Given the description of an element on the screen output the (x, y) to click on. 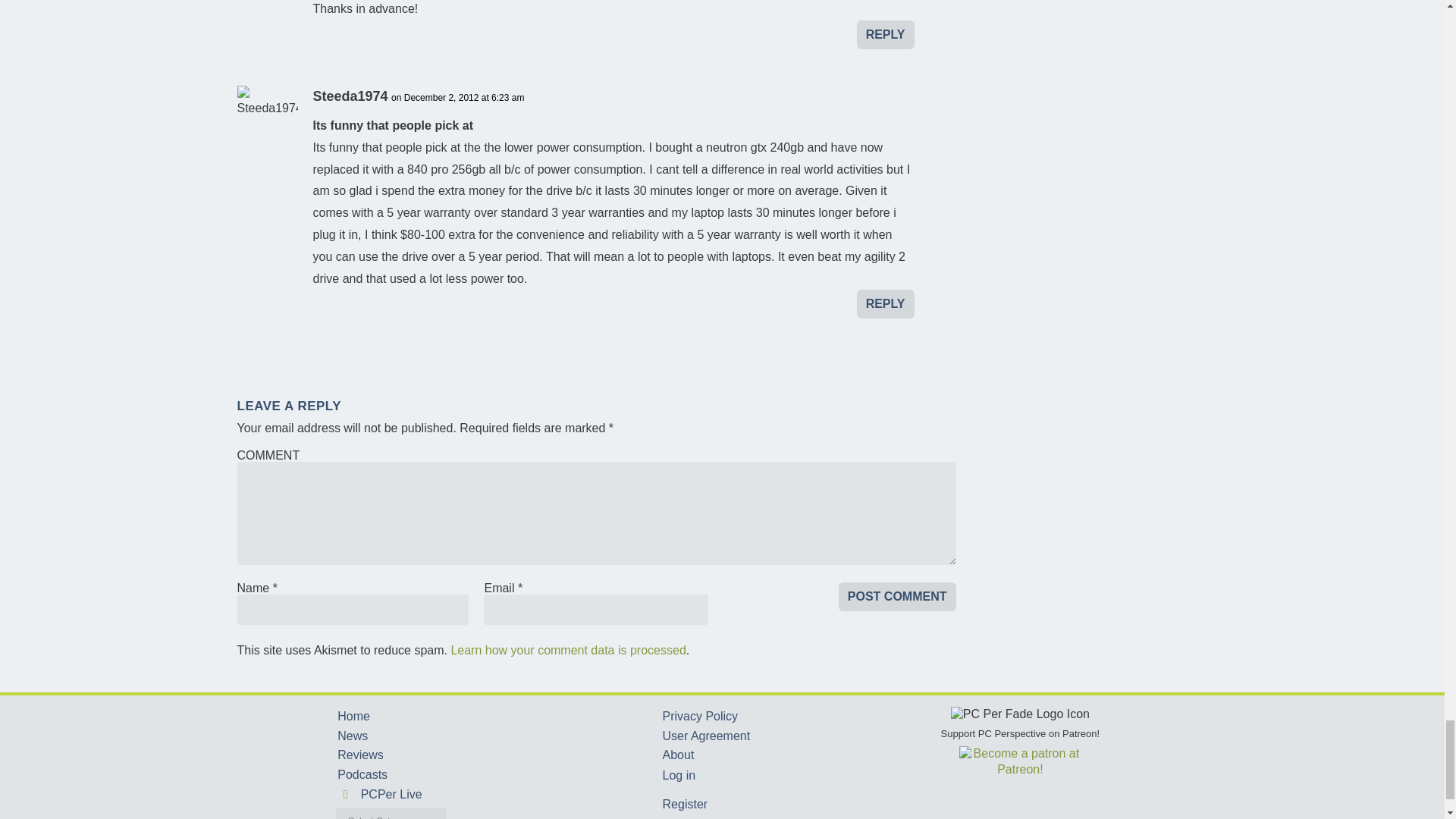
Post Comment (897, 596)
Support PC Perspective on Patreon! (1020, 741)
